Given the description of an element on the screen output the (x, y) to click on. 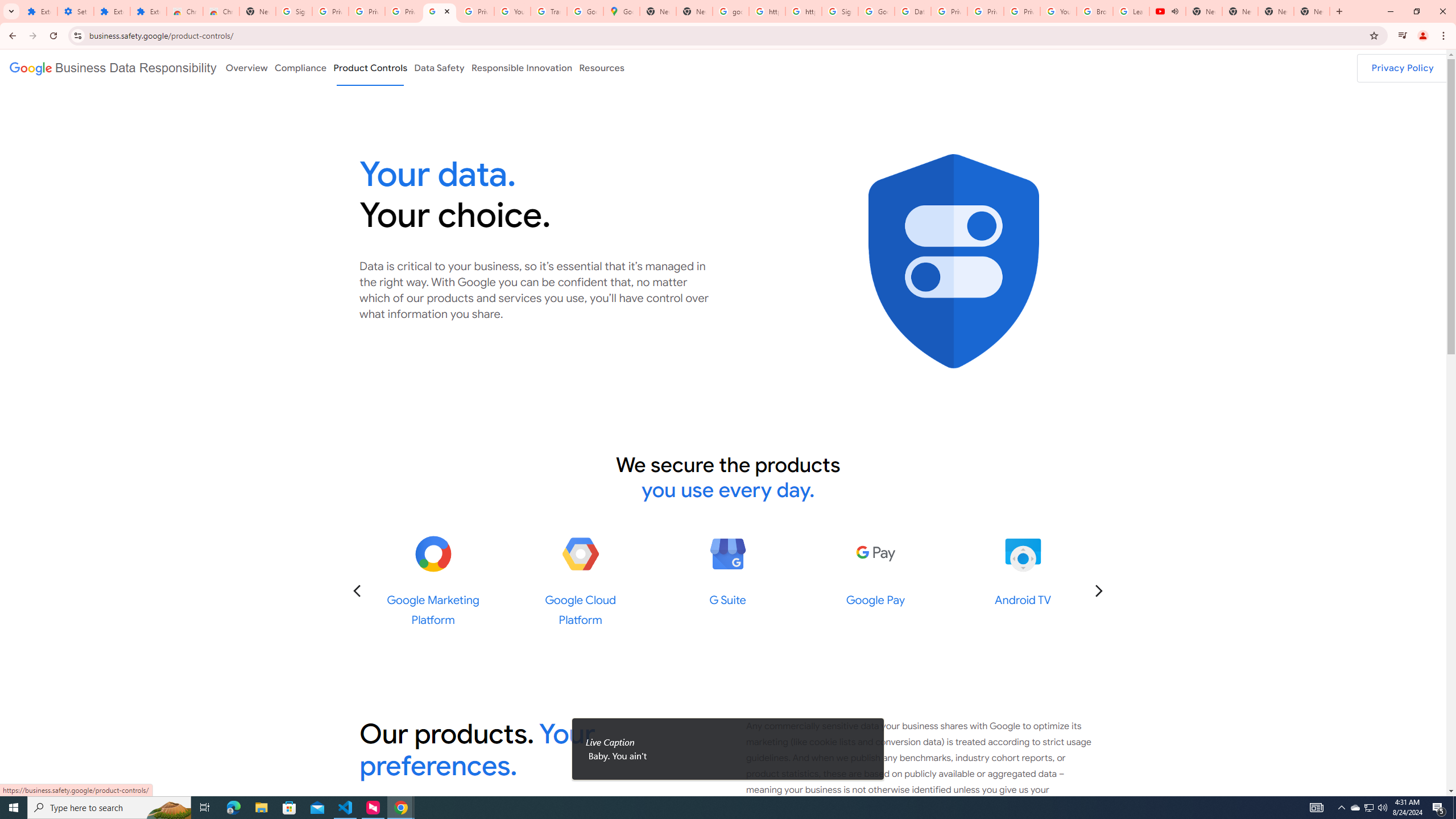
Extensions (148, 11)
Blue Shield with Toggles (953, 261)
G Suite G Suite (727, 570)
New Tab (257, 11)
Google Pay (875, 554)
YouTube (1058, 11)
Google Cloud Platform Google Cloud Platform (580, 580)
https://scholar.google.com/ (767, 11)
Resources (601, 67)
